Given the description of an element on the screen output the (x, y) to click on. 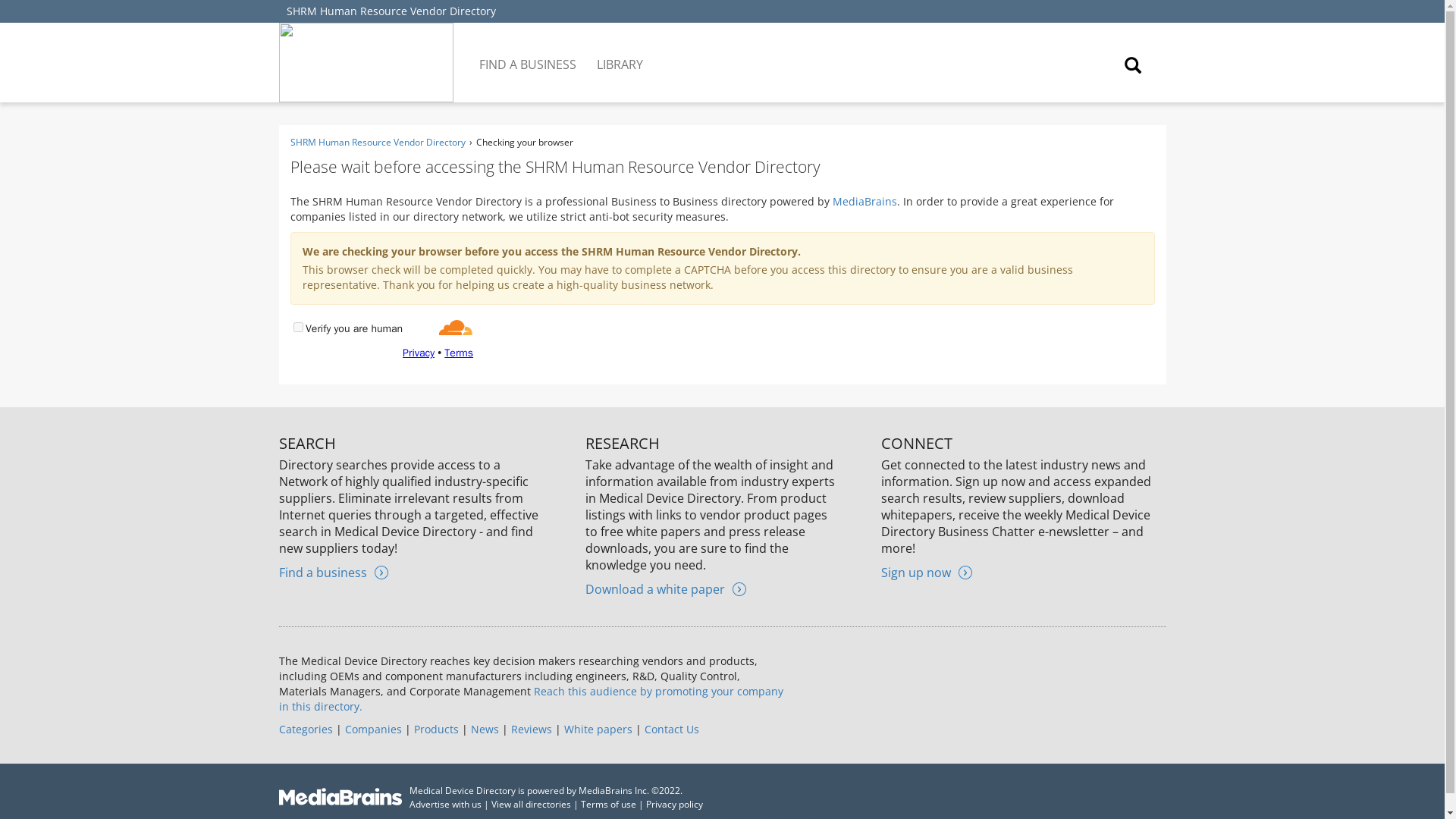
Companies (372, 728)
SHRM Human Resource Vendor Directory (376, 141)
Download a white paper (665, 588)
SHRM Human Resource Vendor Directory (391, 11)
White papers (597, 728)
Contact Us (671, 728)
FIND A BUSINESS (528, 52)
MediaBrains (864, 201)
View all directories (531, 803)
Sign up now (926, 572)
Products (435, 728)
News (483, 728)
Terms of use (608, 803)
Privacy policy (674, 803)
LIBRARY (620, 52)
